Given the description of an element on the screen output the (x, y) to click on. 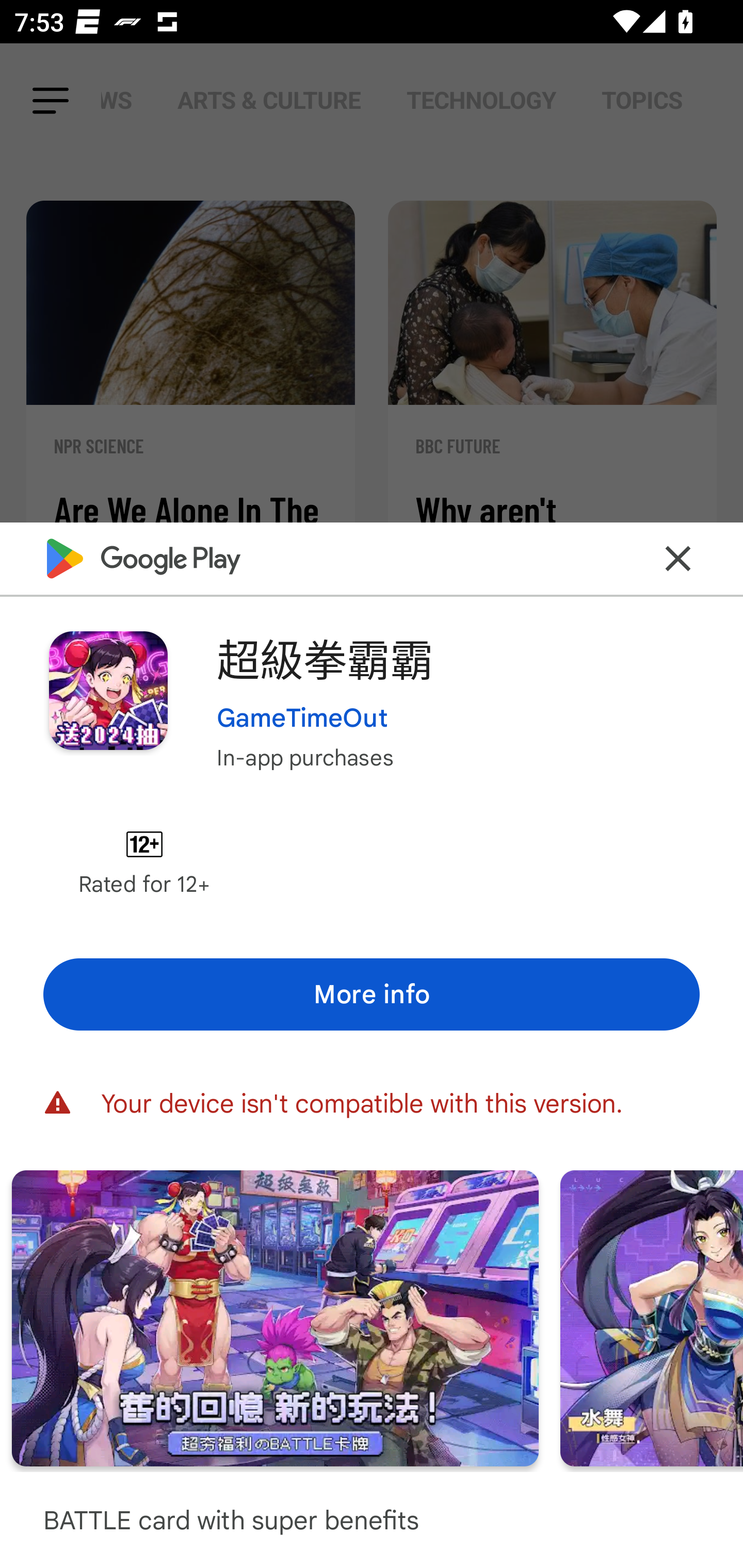
Close (677, 558)
Image of app or game icon for 超級拳霸霸 (108, 690)
GameTimeOut (301, 716)
More info (371, 994)
Screenshot "2" of "7" (274, 1317)
